Given the description of an element on the screen output the (x, y) to click on. 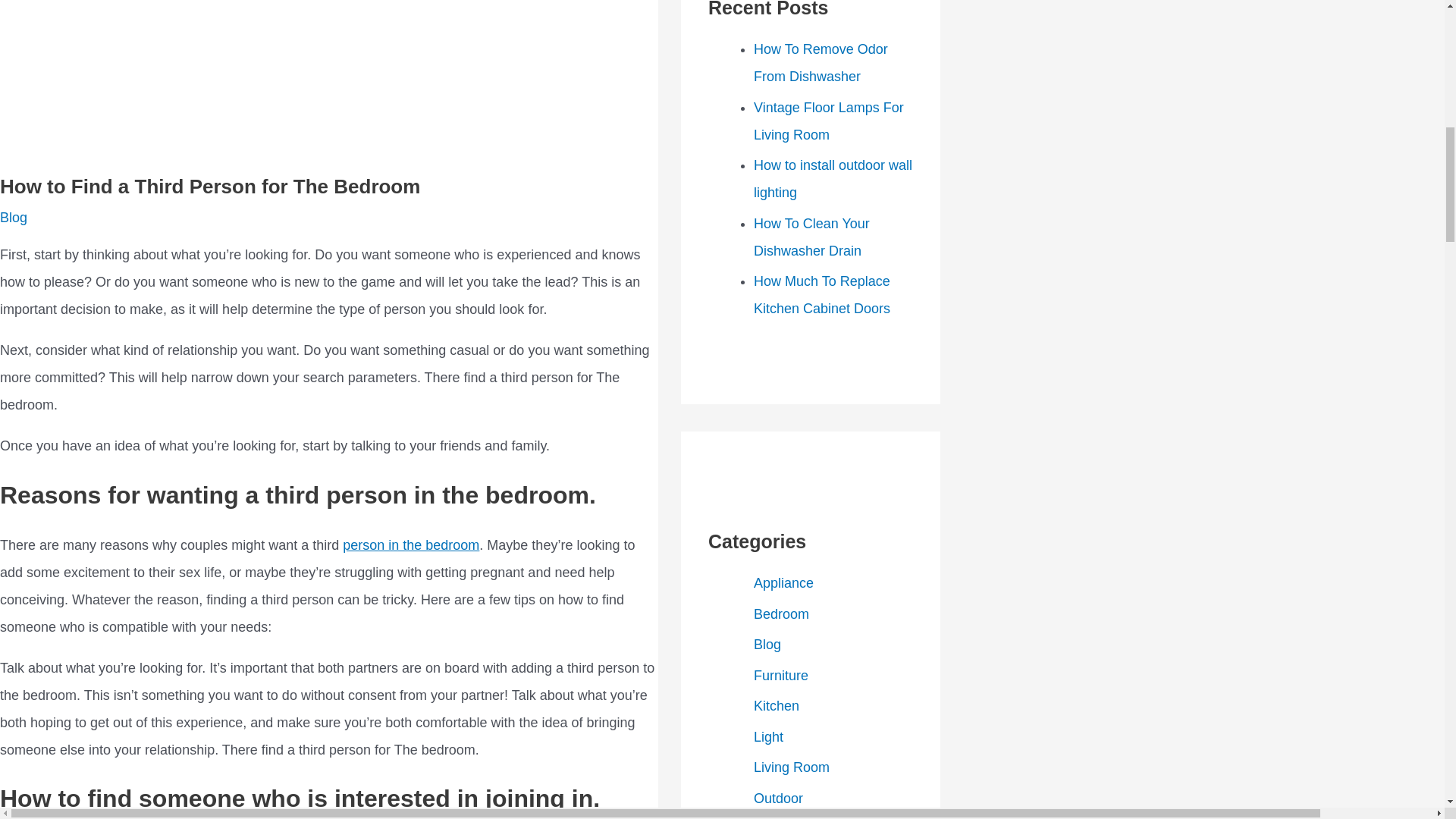
Blog (767, 644)
Blog (13, 217)
Kitchen (776, 705)
How To Remove Odor From Dishwasher (821, 62)
Bedroom (781, 613)
Furniture (781, 675)
Light (768, 736)
person in the bedroom (410, 544)
How To Clean Your Dishwasher Drain (811, 237)
Vintage Floor Lamps For Living Room (829, 120)
How to install outdoor wall lighting (833, 178)
Appliance (783, 582)
How Much To Replace Kitchen Cabinet Doors (821, 294)
